Given the description of an element on the screen output the (x, y) to click on. 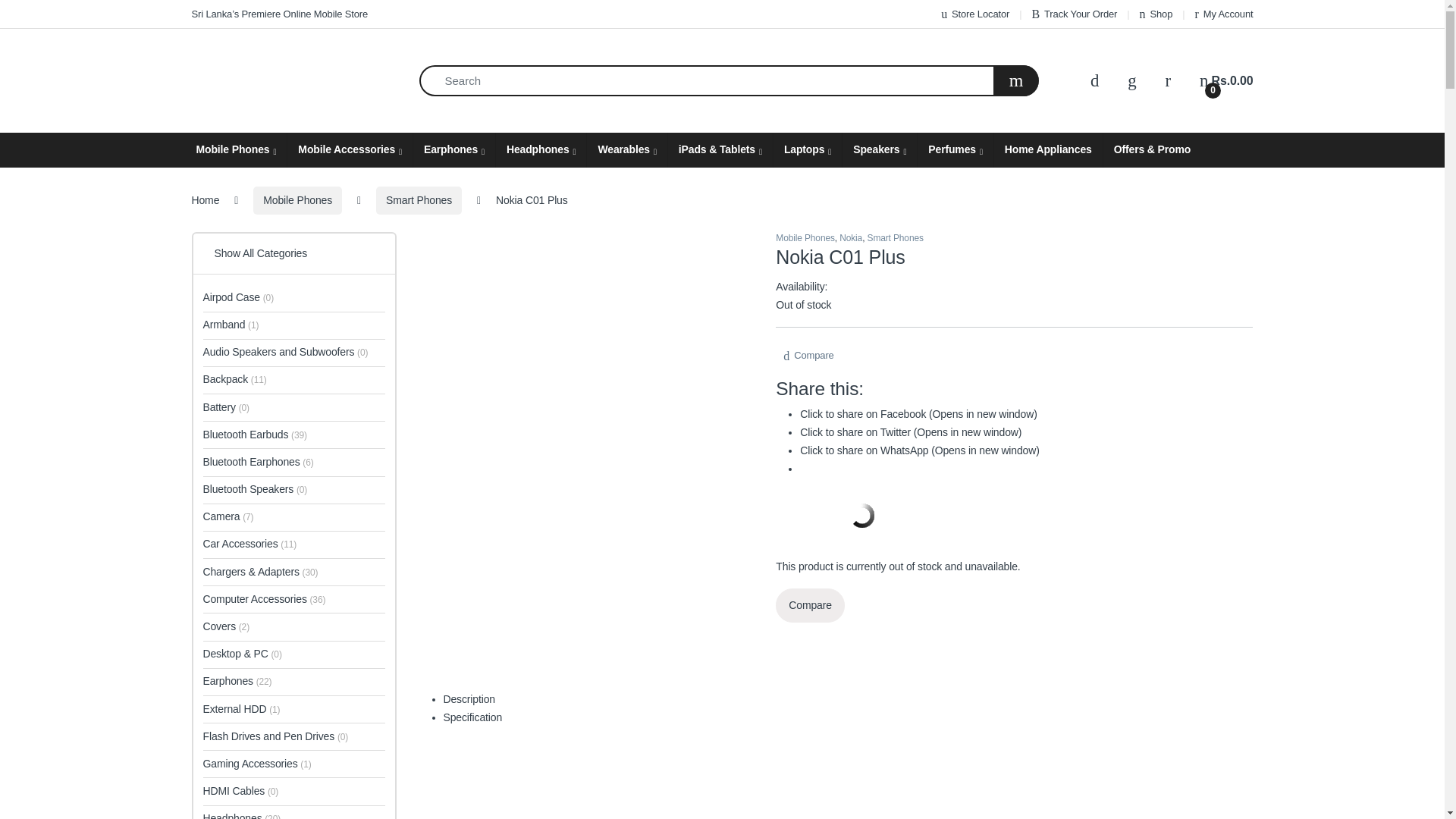
Mobile Phones (235, 149)
Track Your Order (1073, 13)
Store Locator (974, 13)
My Account (1224, 13)
Track Your Order (1073, 13)
Shop (1226, 81)
Sri Lanka's Premiere Online Mobile Store (1156, 13)
My Account (279, 13)
Store Locator (1224, 13)
